Given the description of an element on the screen output the (x, y) to click on. 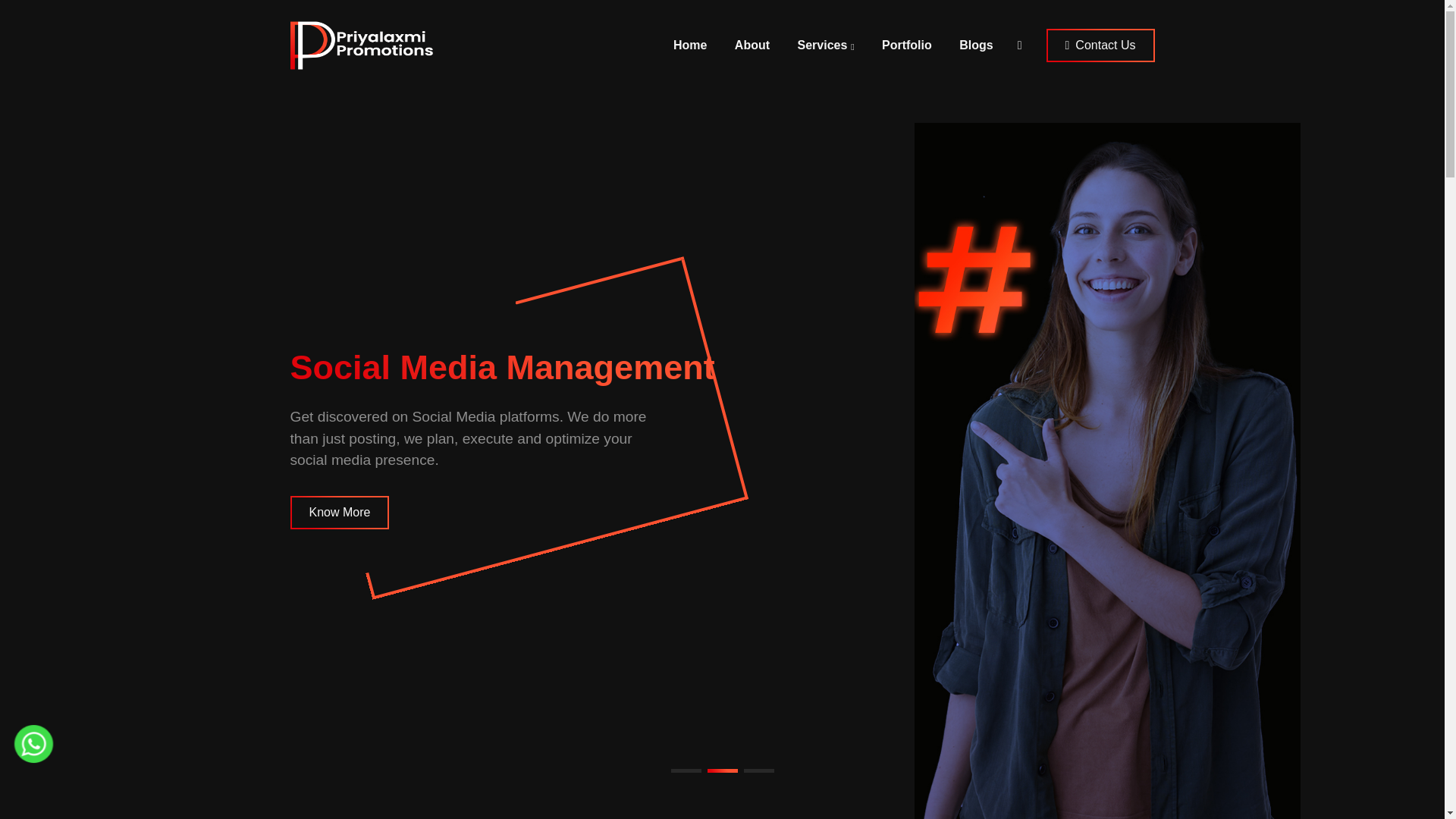
About (751, 45)
Portfolio (906, 45)
Home (690, 45)
Services (826, 45)
Know More (338, 512)
Blogs (975, 45)
Contact Us (1100, 45)
